Given the description of an element on the screen output the (x, y) to click on. 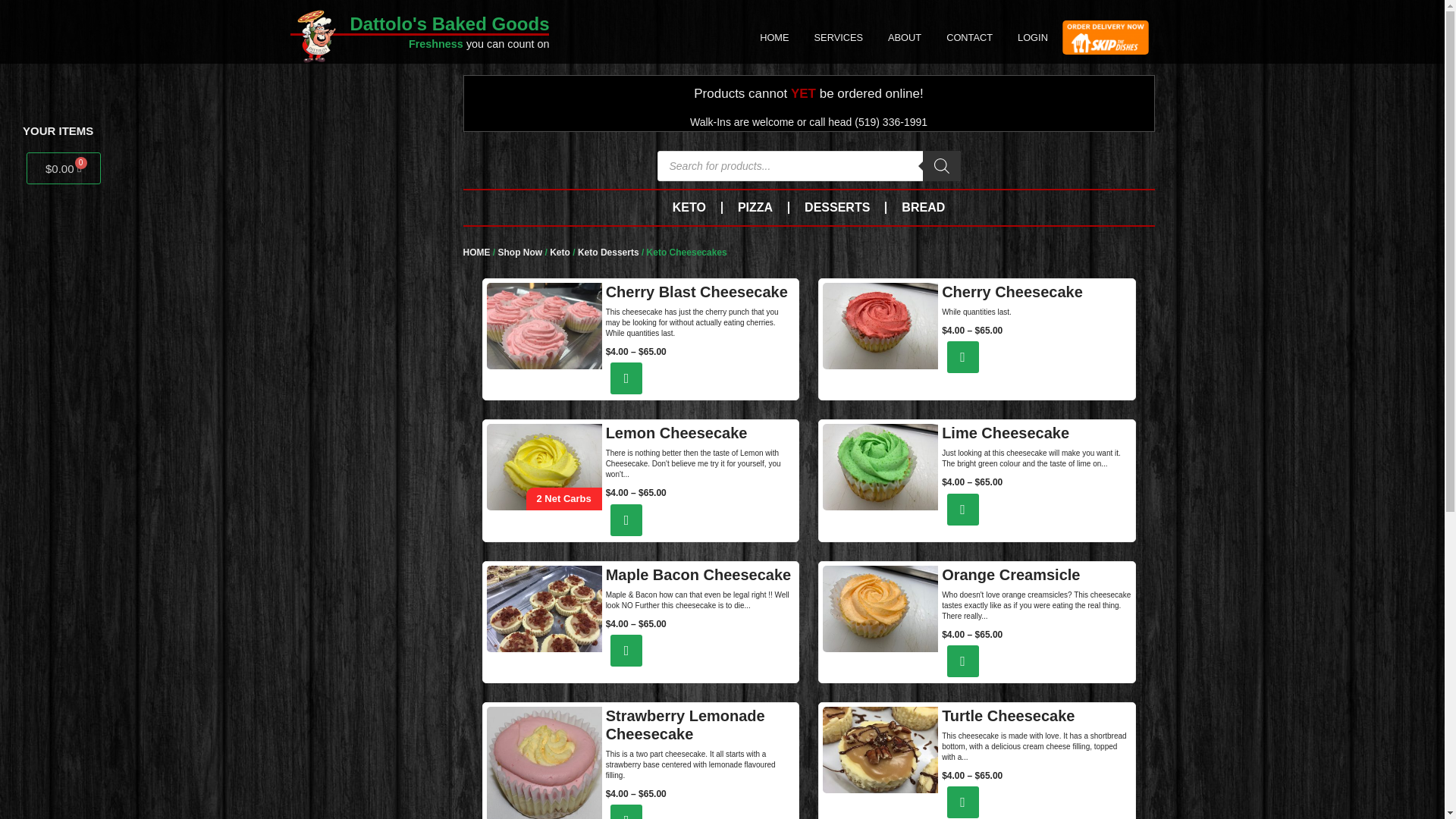
order-now (1105, 37)
SERVICES (838, 37)
CONTACT (969, 37)
Dattolo's Baked Goods (448, 23)
ABOUT (904, 37)
KETO (689, 207)
logo-man-400-2 (315, 36)
LOGIN (1032, 37)
HOME (774, 37)
